Given the description of an element on the screen output the (x, y) to click on. 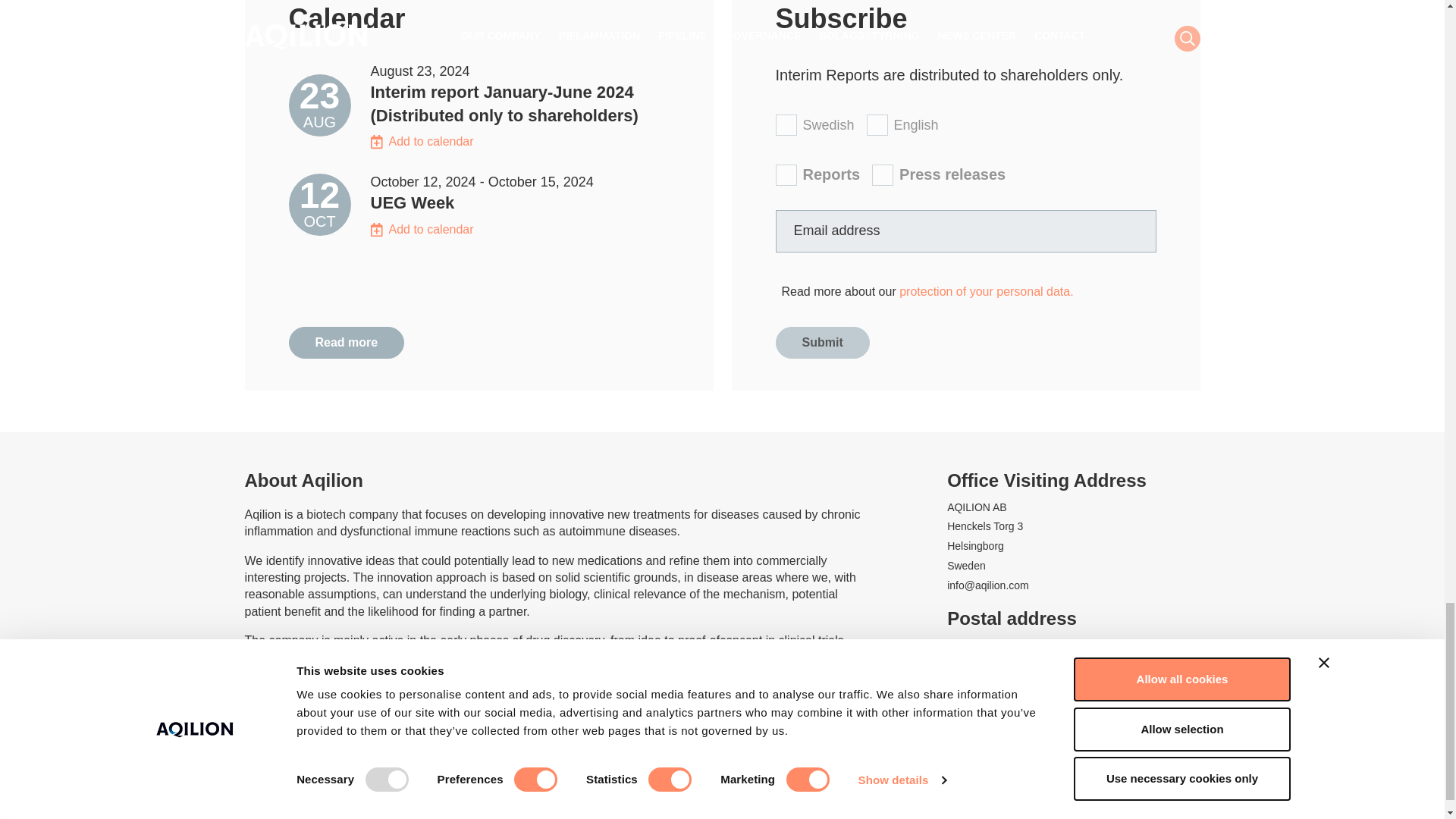
prm (882, 174)
en (877, 124)
kmk,rpt,rdv (785, 174)
sv (785, 124)
